Given the description of an element on the screen output the (x, y) to click on. 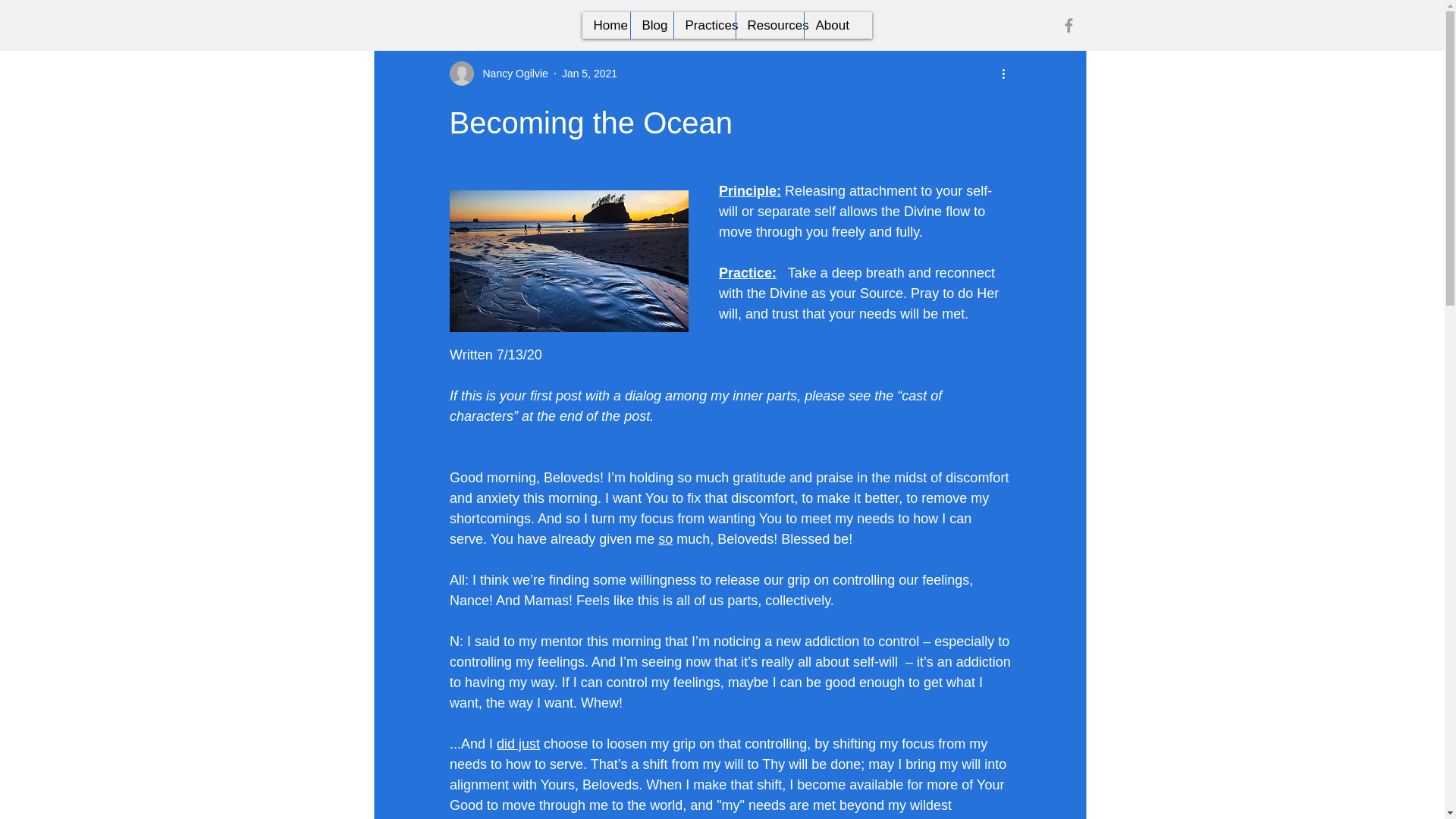
Home (606, 25)
Practices (703, 25)
Nancy Ogilvie (510, 73)
Jan 5, 2021 (589, 72)
Blog (650, 25)
Resources (769, 25)
